Given the description of an element on the screen output the (x, y) to click on. 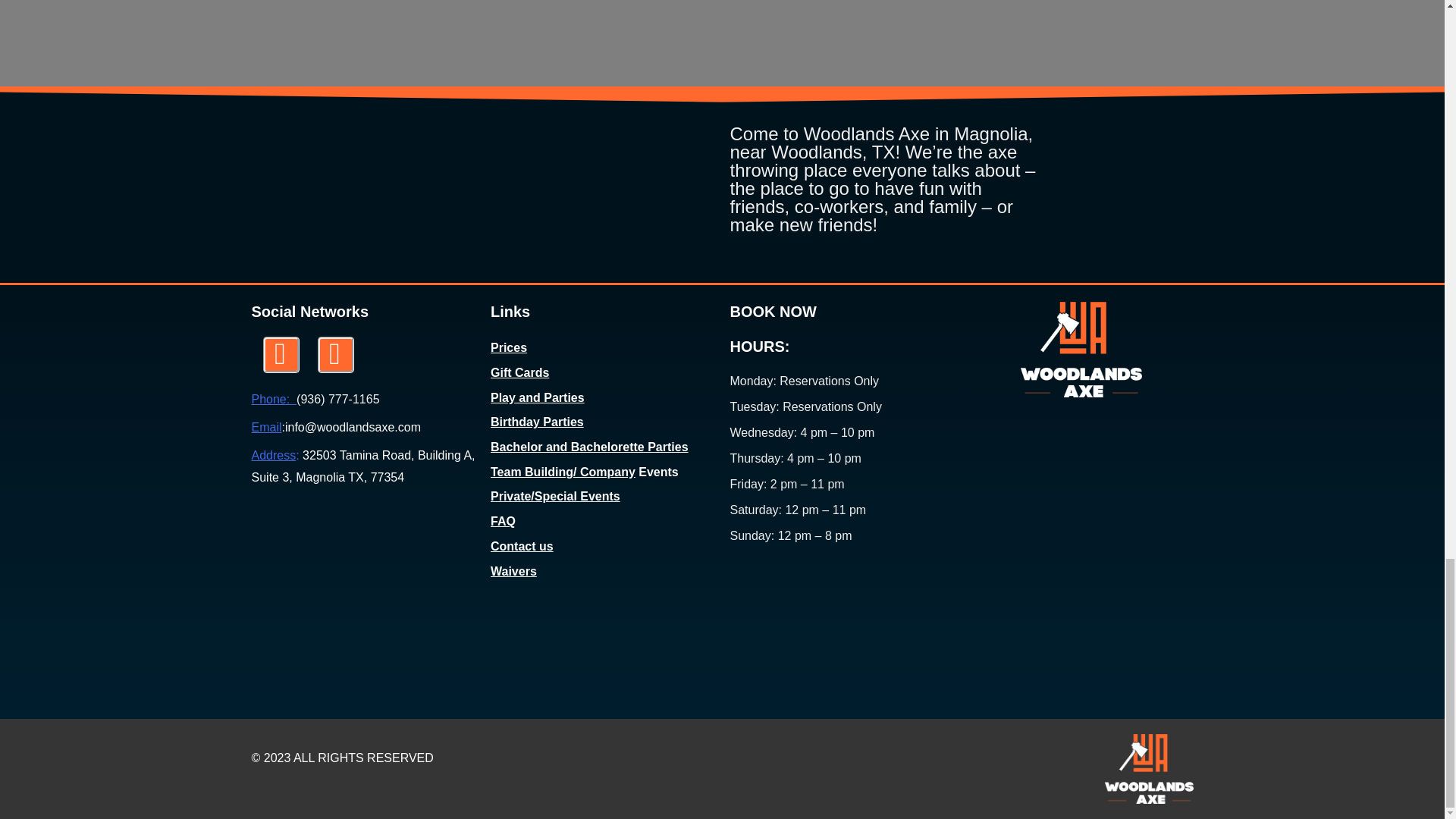
Prices (508, 347)
Facebook (335, 354)
Instagram (280, 354)
Address: (275, 454)
Phone:   (274, 399)
